Given the description of an element on the screen output the (x, y) to click on. 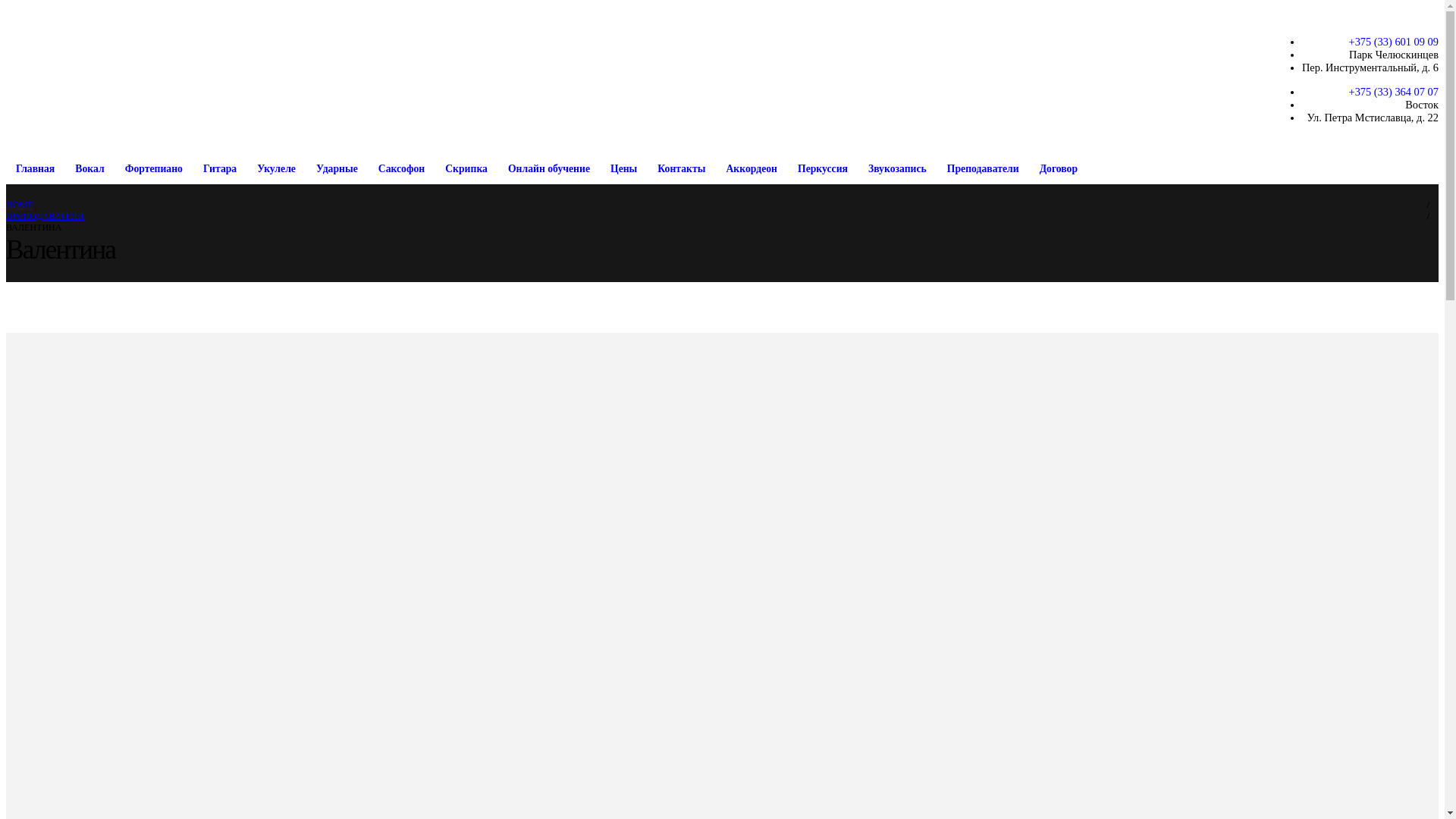
+375 (33) 601 09 09 Element type: text (1393, 41)
+375 (33) 364 07 07 Element type: text (1393, 91)
HOME Element type: text (19, 204)
